Given the description of an element on the screen output the (x, y) to click on. 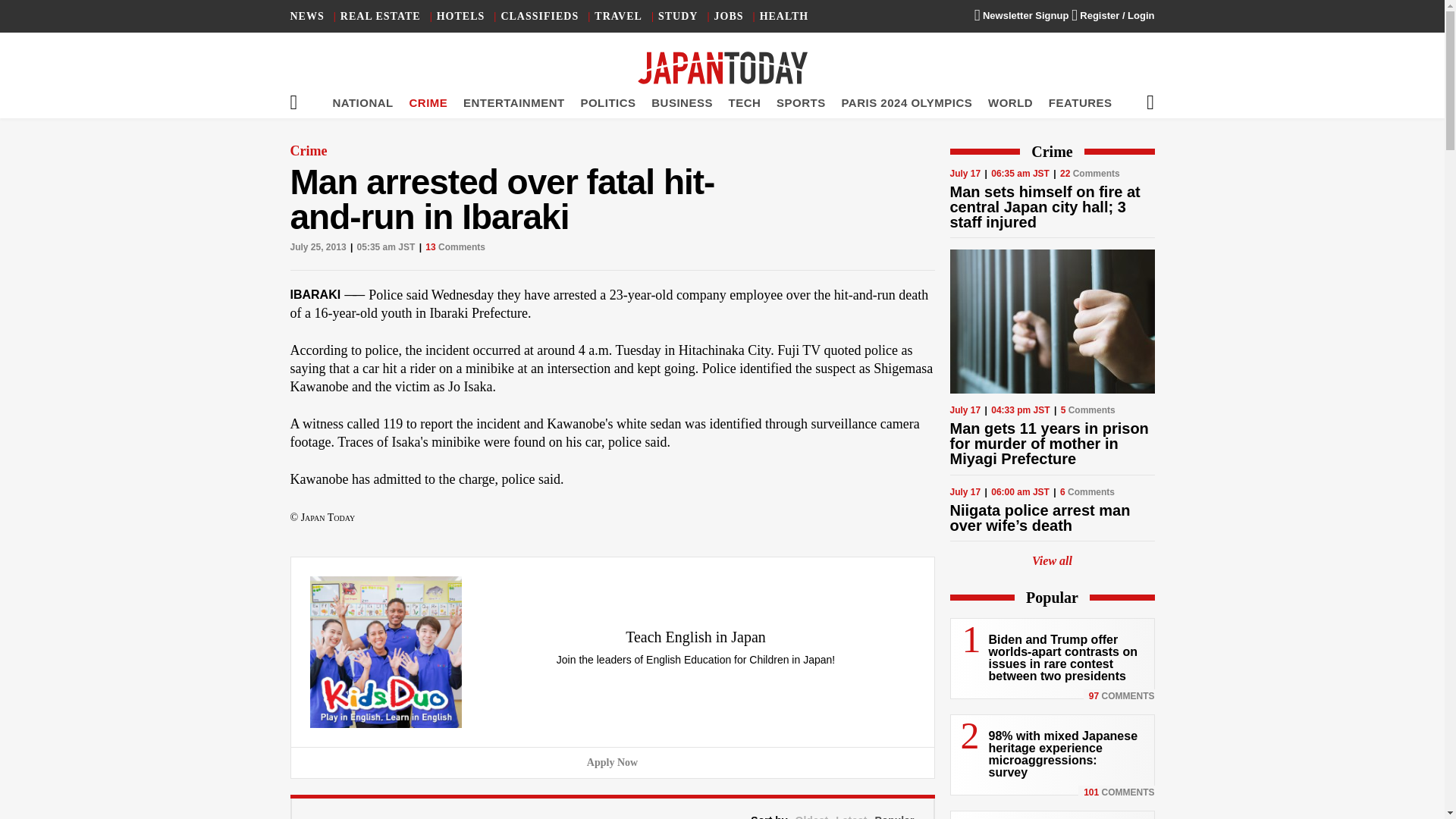
WORLD (1010, 102)
STUDY (677, 16)
Japan Today (721, 67)
Newsletter Signup (1021, 15)
CRIME (427, 102)
REAL ESTATE (380, 16)
ENTERTAINMENT (513, 102)
TECH (745, 102)
NATIONAL (362, 102)
JOBS (729, 16)
PARIS 2024 OLYMPICS (906, 102)
NEWS (306, 16)
CLASSIFIEDS (539, 16)
